Given the description of an element on the screen output the (x, y) to click on. 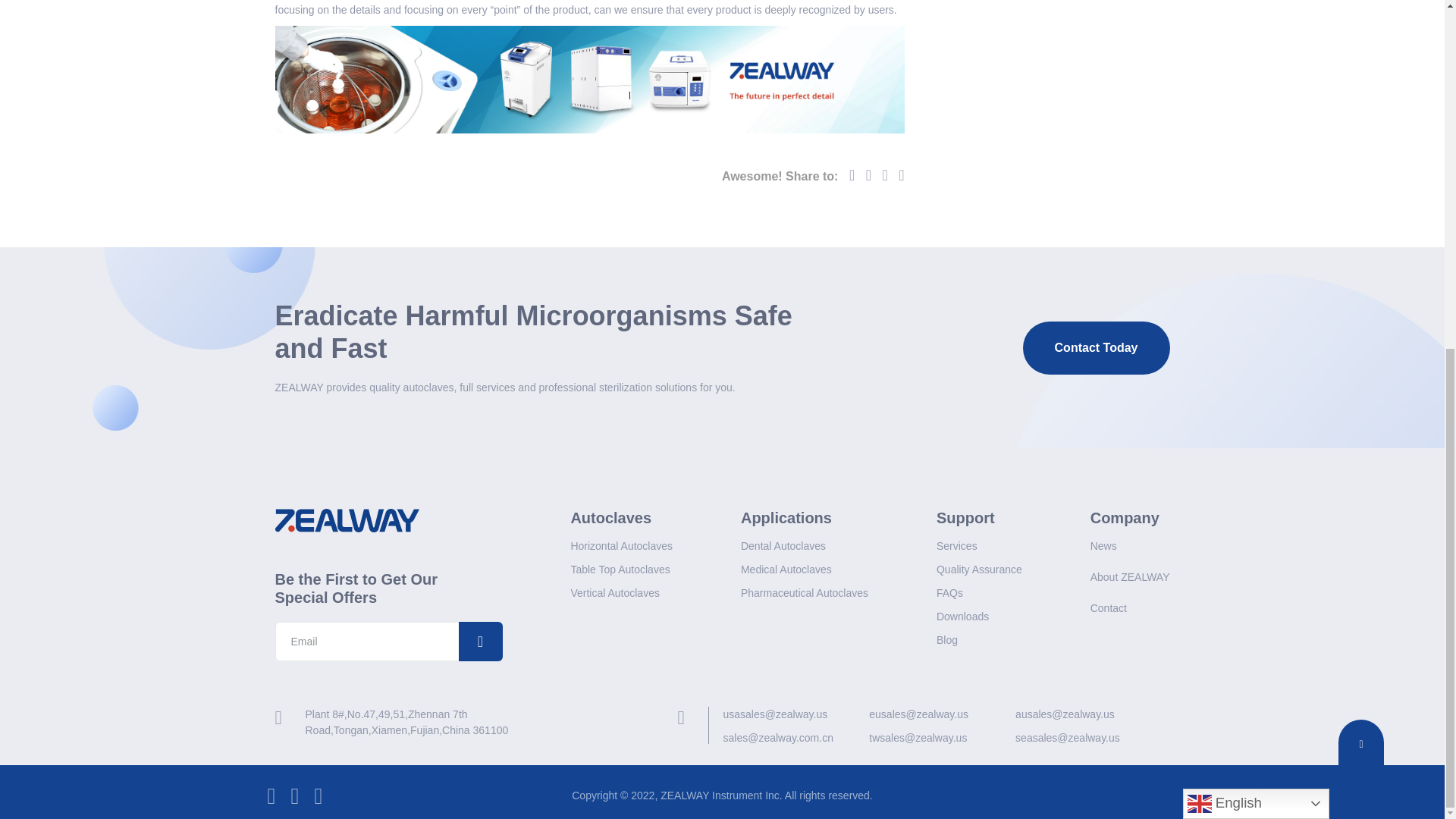
s (483, 640)
Contact Today (1096, 347)
Horizontal Autoclaves (621, 546)
s (483, 640)
